Given the description of an element on the screen output the (x, y) to click on. 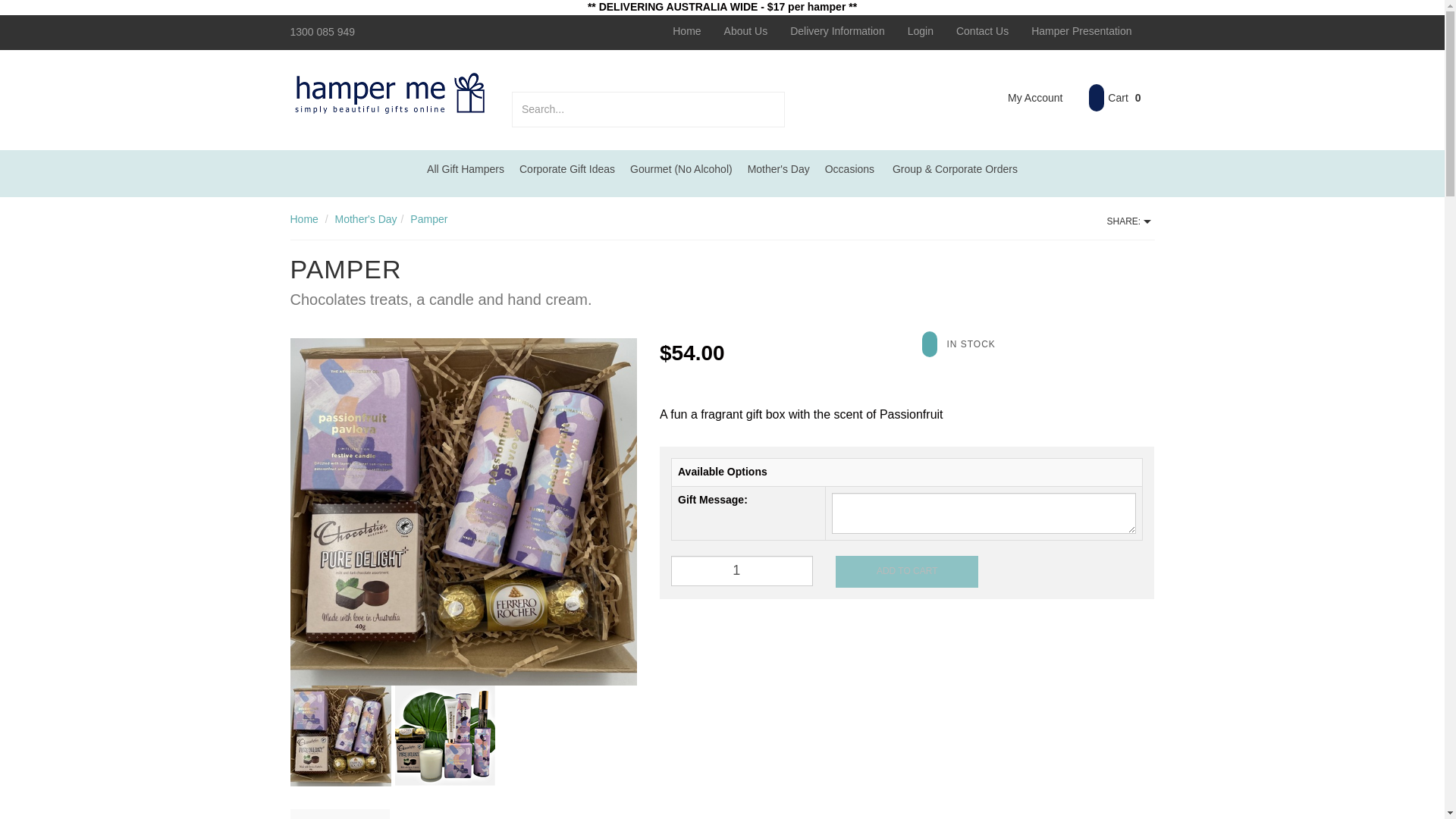
1300 085 949 (322, 31)
About Us (745, 30)
1 (741, 571)
My Account (1023, 98)
Large View (444, 735)
Hamper Me (389, 91)
Contact Us (982, 30)
Delivery Information (837, 30)
Home (686, 30)
Large View (463, 511)
